Given the description of an element on the screen output the (x, y) to click on. 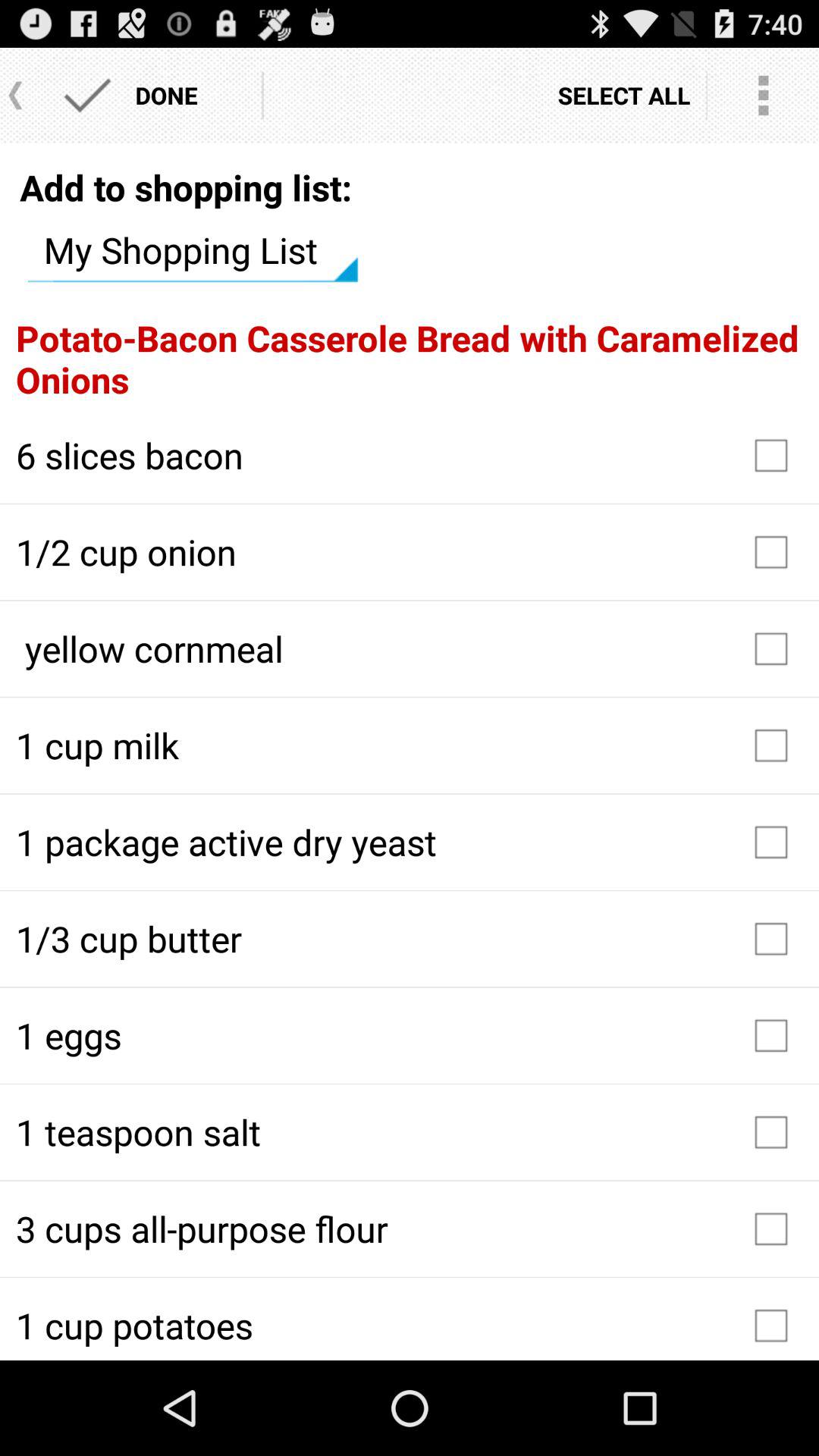
select the checkbox above 1 2 cup item (409, 455)
